Given the description of an element on the screen output the (x, y) to click on. 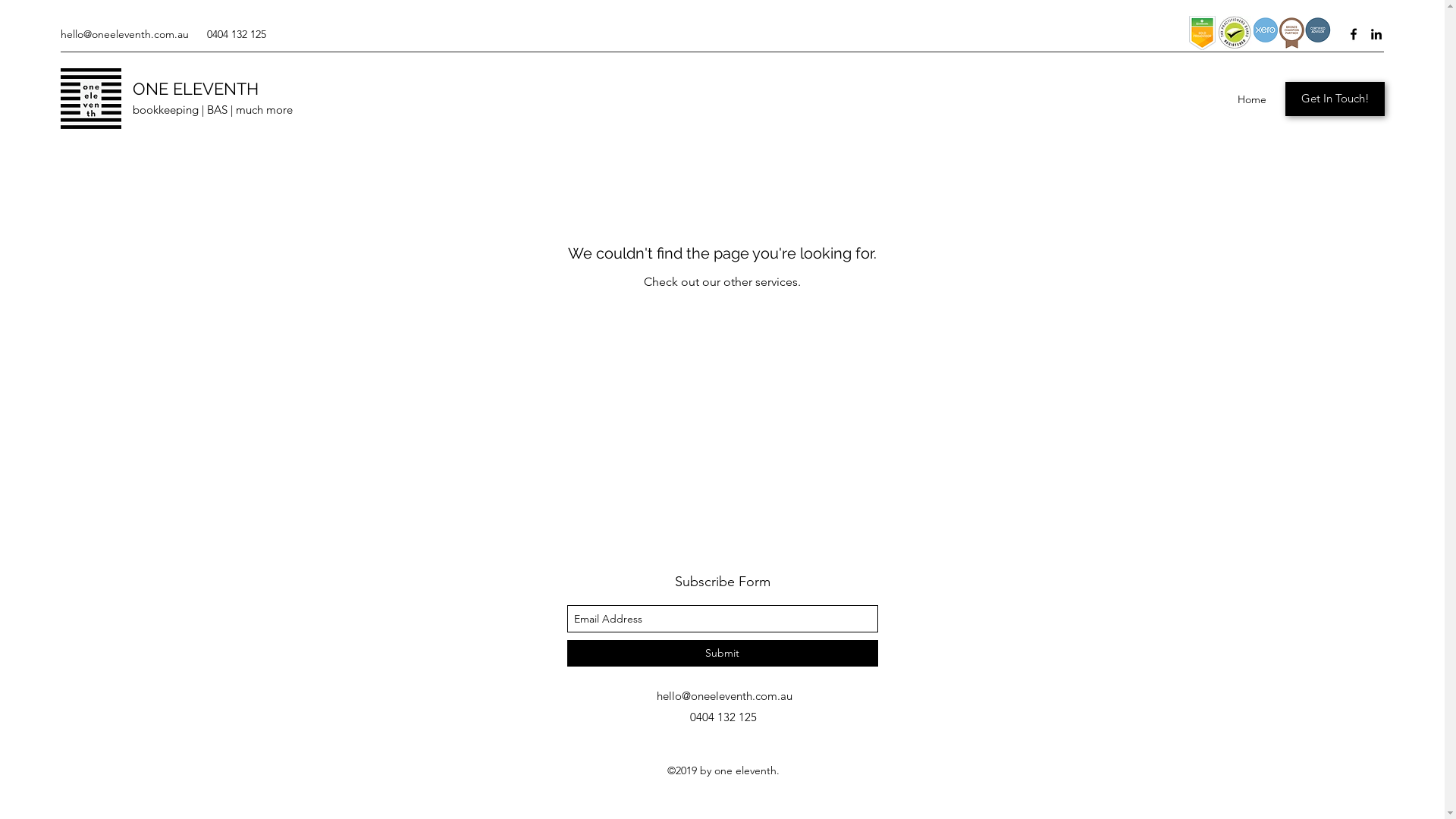
Submit Element type: text (722, 653)
Get In Touch! Element type: text (1334, 98)
hello@oneeleventh.com.au Element type: text (724, 695)
hello@oneeleventh.com.au Element type: text (124, 33)
ONE ELEVENTH Element type: text (195, 88)
Home Element type: text (1252, 98)
